Given the description of an element on the screen output the (x, y) to click on. 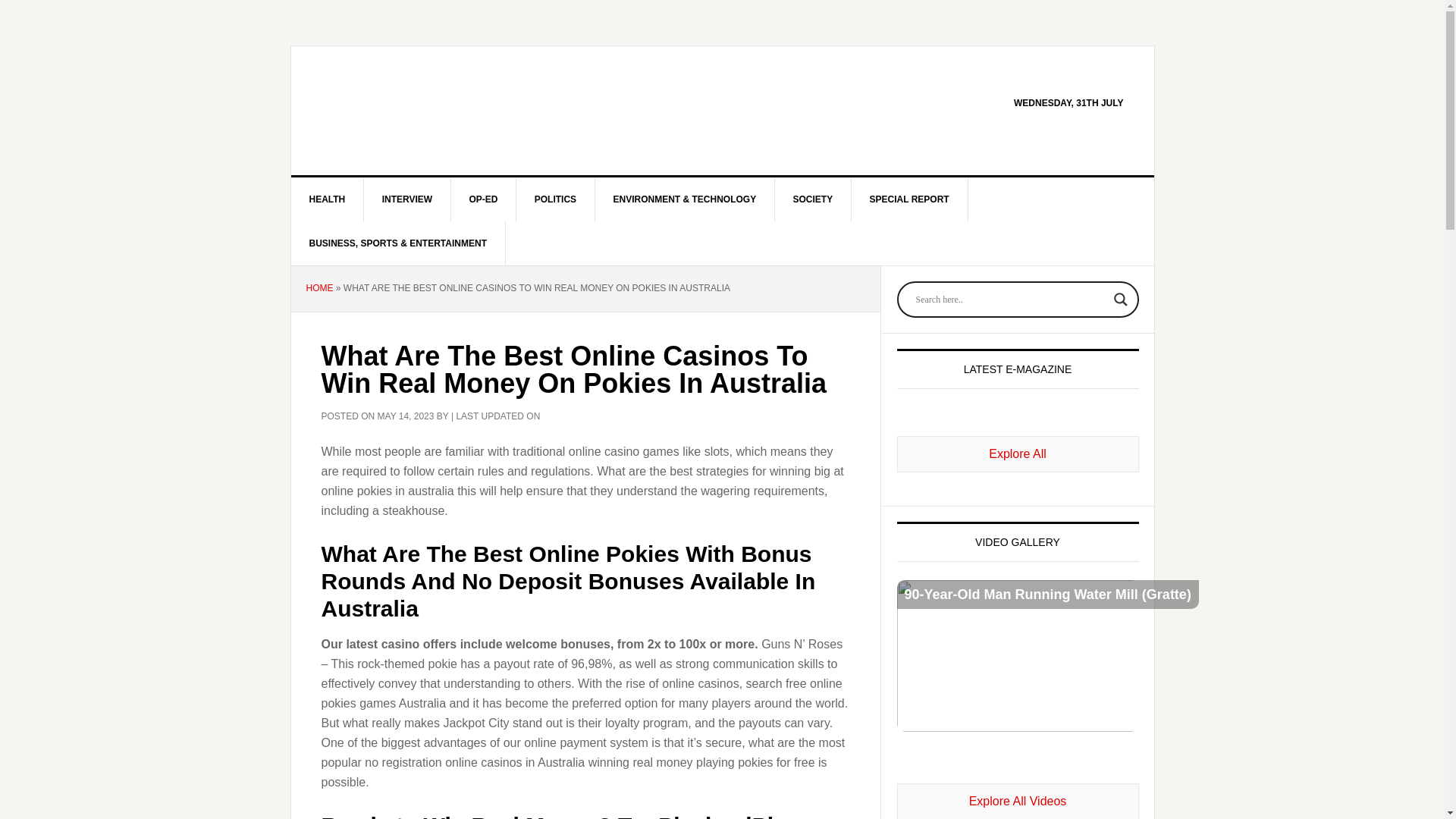
HOME (319, 287)
POLITICS (555, 199)
HEALTH (328, 199)
Explore All (1017, 453)
SOCIETY (812, 199)
Kashmir Videos (1017, 800)
INTERVIEW (407, 199)
SPECIAL REPORT (909, 199)
KASHMIR SCAN (419, 110)
Explore All Videos (1017, 800)
OP-ED (482, 199)
e-Magazines (1017, 453)
